Given the description of an element on the screen output the (x, y) to click on. 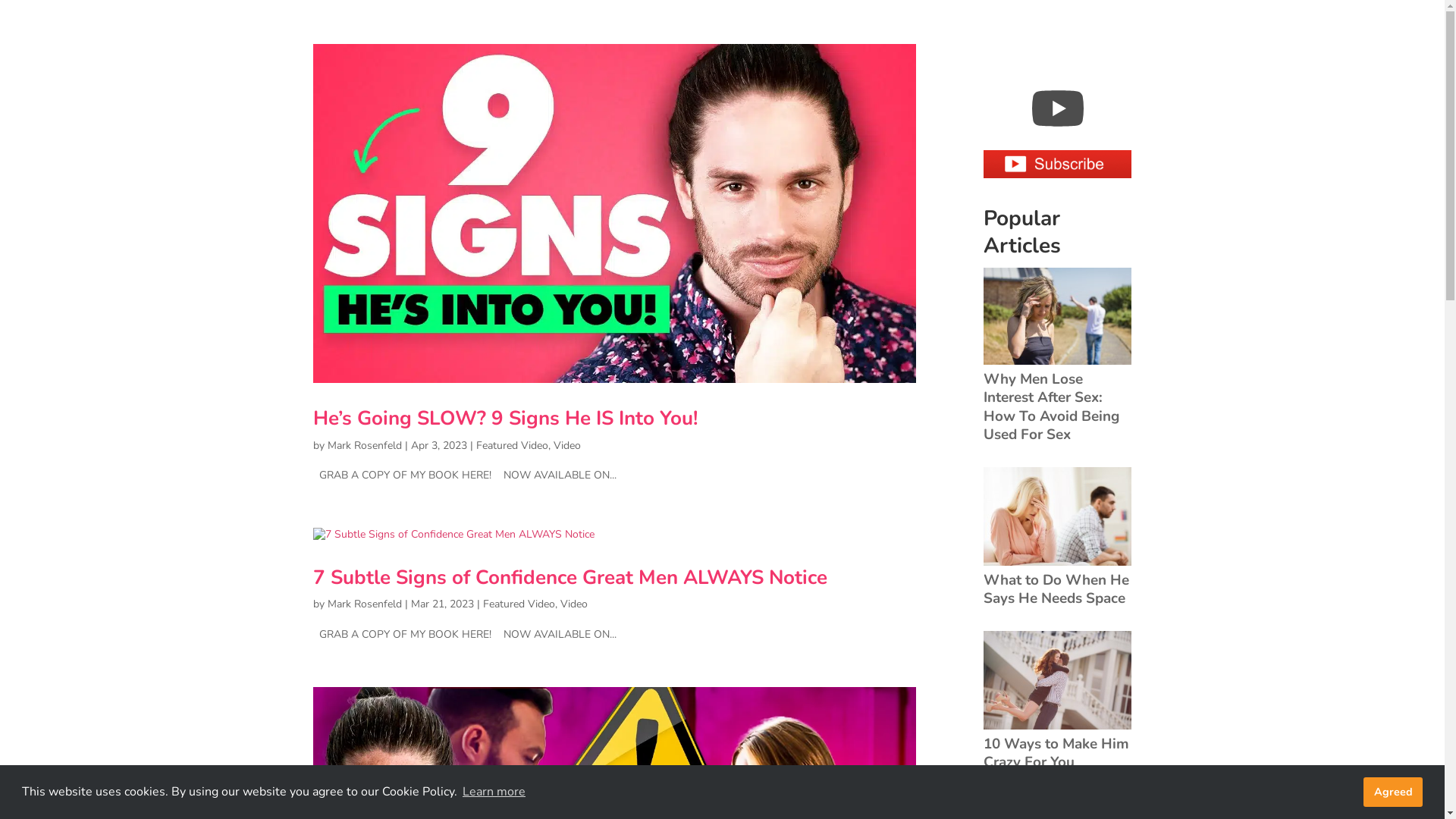
Mark Rosenfeld Element type: text (364, 445)
Video Element type: text (572, 603)
Video Element type: text (566, 445)
10 Ways to Make Him Crazy For You Element type: text (1057, 743)
Featured Video Element type: text (518, 603)
Agreed Element type: text (1392, 791)
What to Do When He Says He Needs Space Element type: text (1057, 579)
Mark Rosenfeld Element type: text (364, 603)
Featured Video Element type: text (512, 445)
7 Subtle Signs of Confidence Great Men ALWAYS Notice Element type: text (569, 577)
Learn more Element type: text (493, 791)
